Given the description of an element on the screen output the (x, y) to click on. 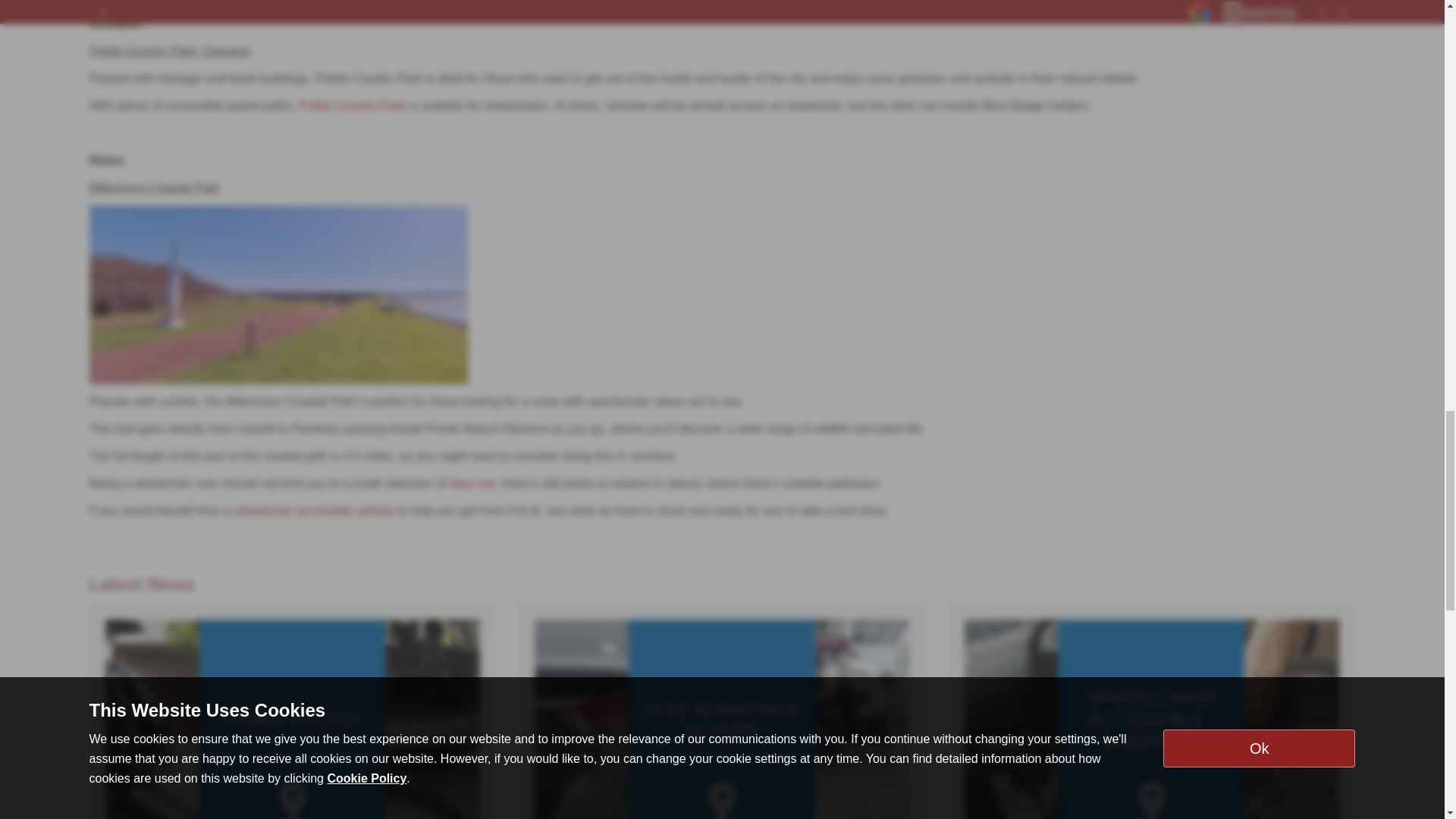
Wheelchair Accessible Sheffield (1151, 719)
wheelchair accessible vehicle (314, 510)
Wheelchair Ramps vs Lifts (292, 719)
days out (471, 482)
Pollok Country Park (352, 105)
ULEZ Scrappage Scheme for WAVs (722, 719)
